Given the description of an element on the screen output the (x, y) to click on. 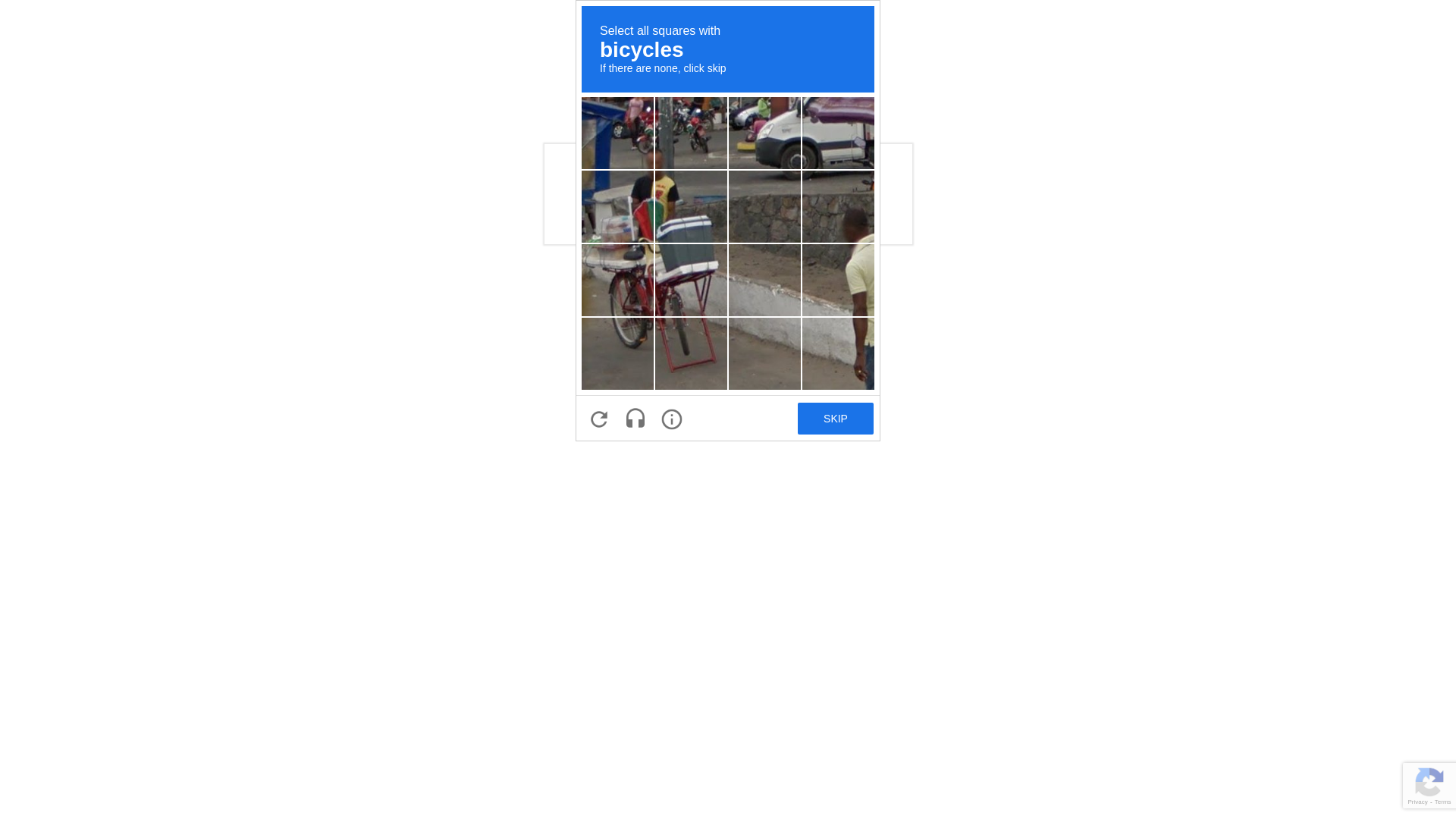
recaptcha challenge expires in two minutes Element type: hover (727, 220)
